Given the description of an element on the screen output the (x, y) to click on. 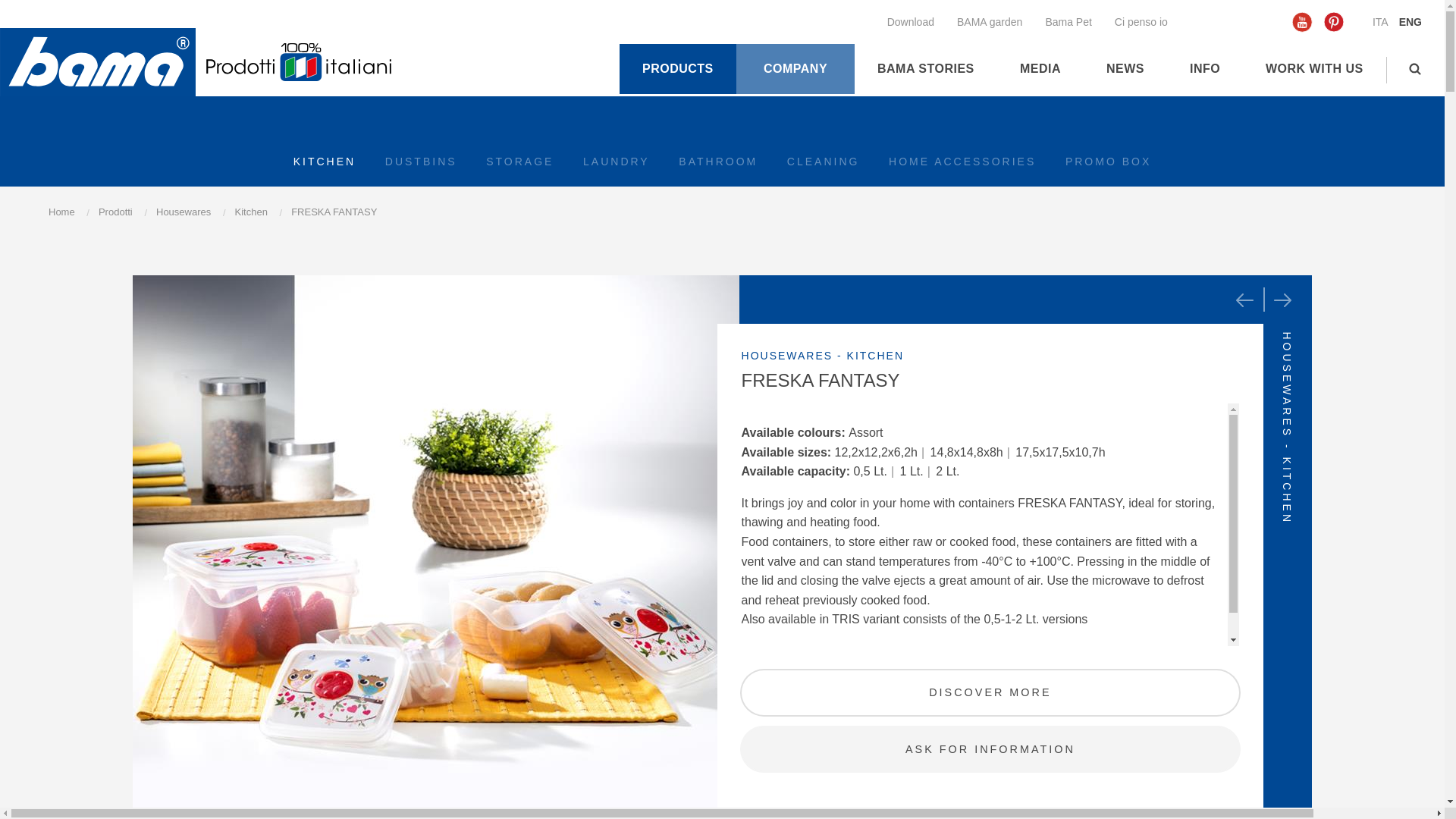
PRODUCTS (678, 69)
DISPENSER KITCHEN CONTAINERS (1244, 299)
BamaGroup (97, 61)
COMPANY (795, 69)
NEWS (1125, 69)
BAMA STORIES (925, 69)
FRESKA  (1282, 299)
MEDIA (1040, 69)
